Given the description of an element on the screen output the (x, y) to click on. 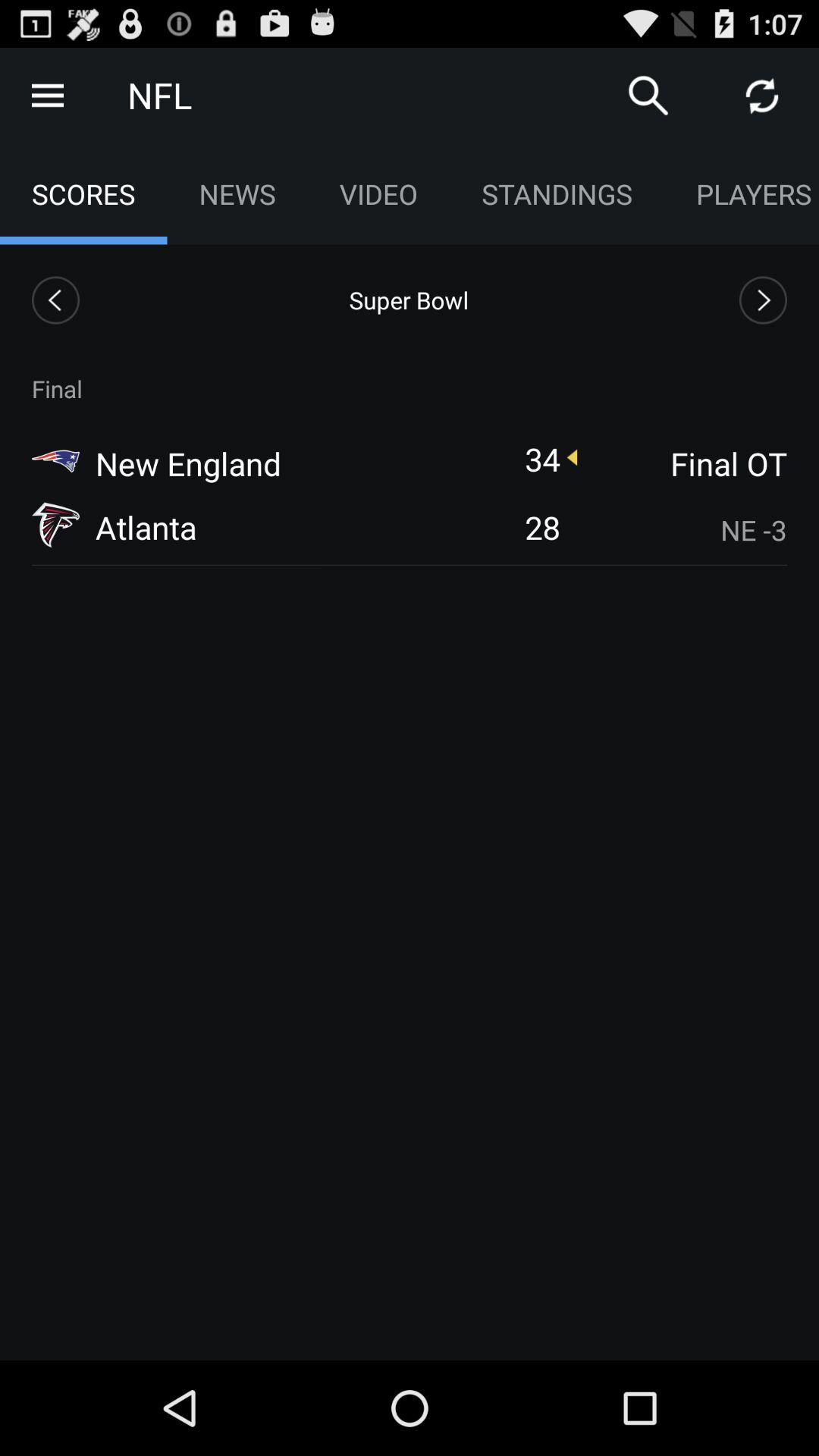
select the item next to the video app (648, 95)
